Given the description of an element on the screen output the (x, y) to click on. 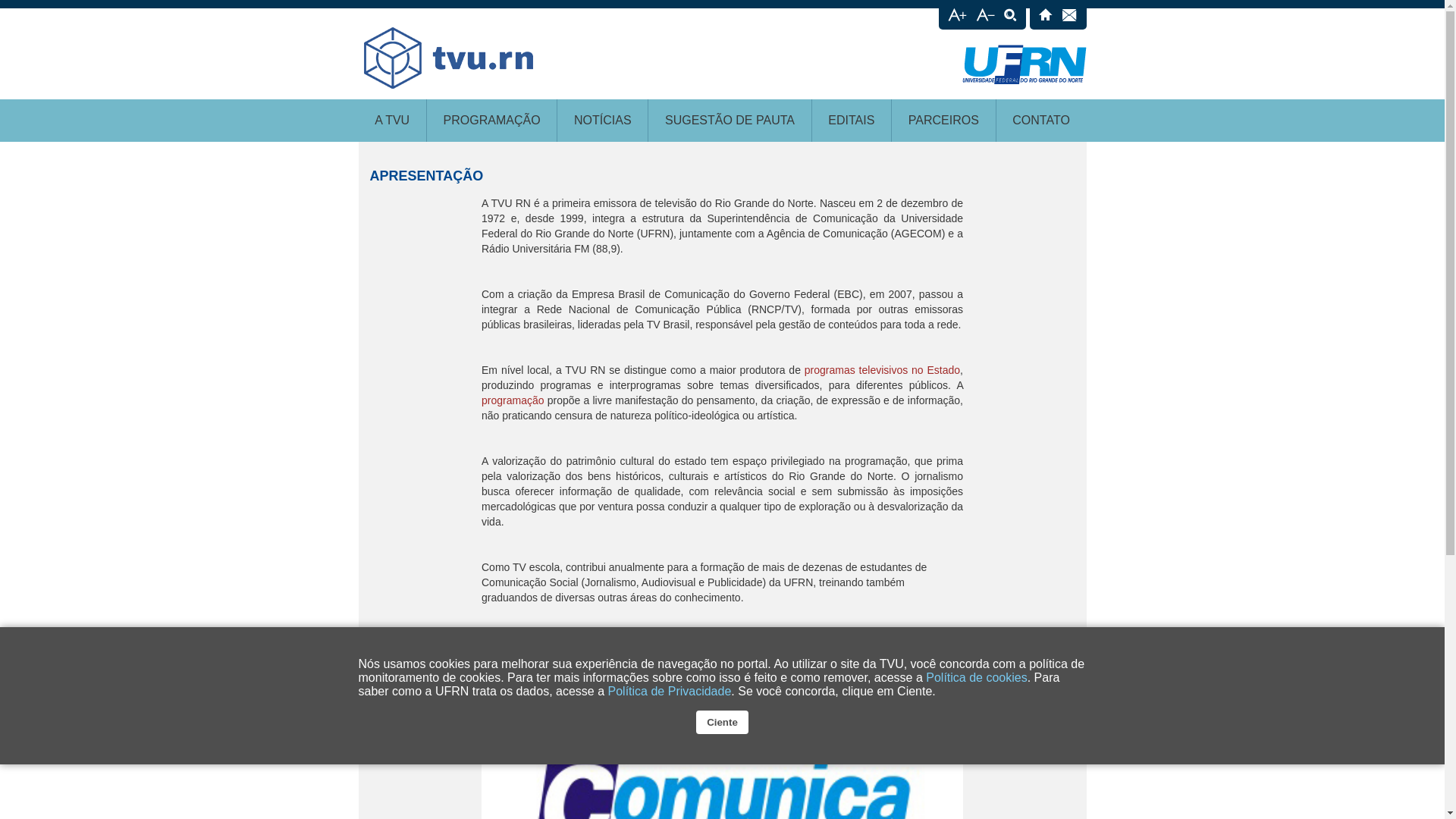
Aumentar a fonte Element type: hover (956, 16)
programas televisivos no Estado Element type: text (882, 370)
A TVU Element type: text (391, 120)
CONTATO Element type: text (1041, 120)
PARCEIROS Element type: text (942, 120)
Diminuir a fonte Element type: hover (984, 16)
EDITAIS Element type: text (851, 120)
Ciente Element type: text (722, 722)
